Given the description of an element on the screen output the (x, y) to click on. 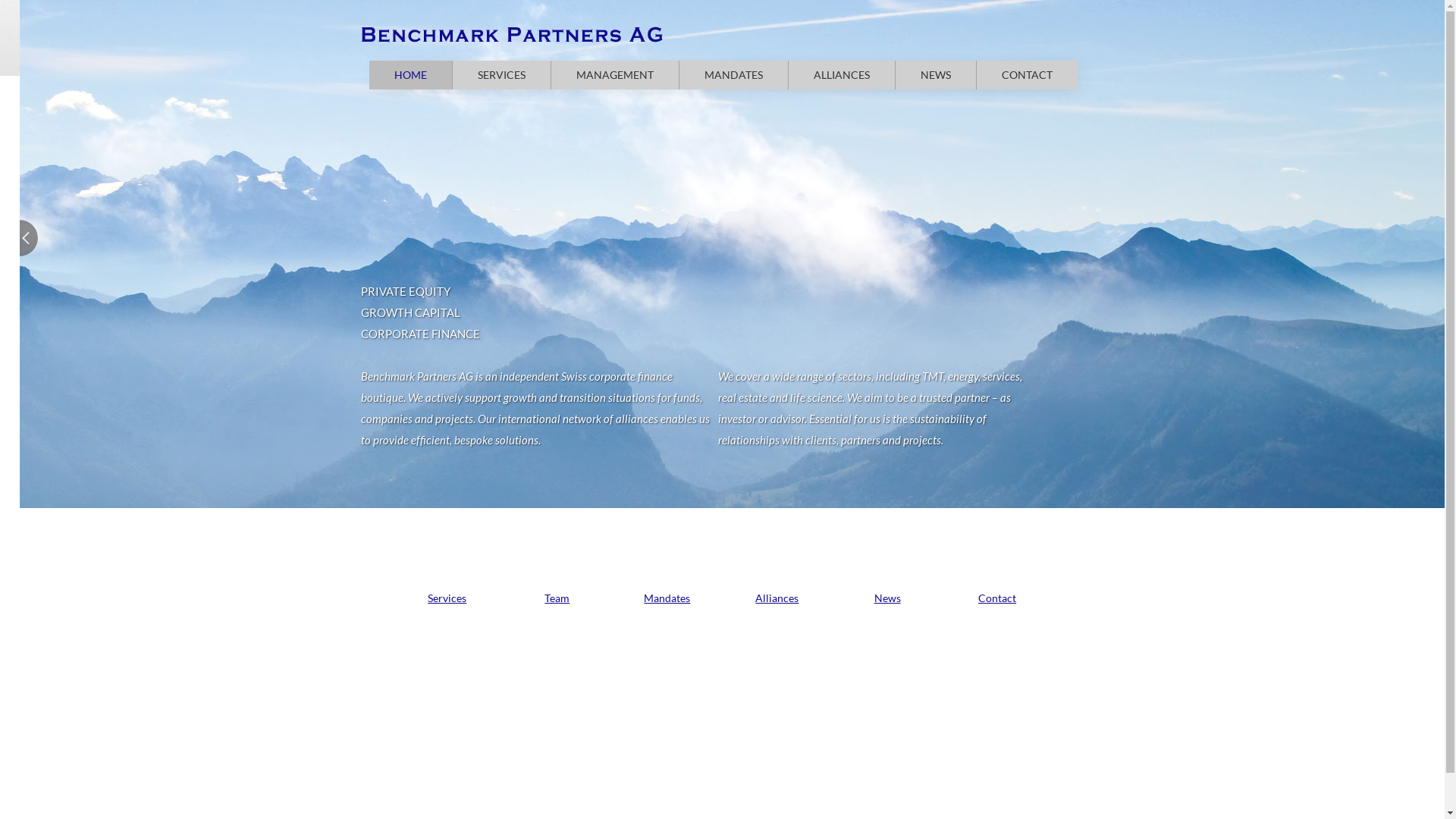
MANAGEMENT Element type: text (614, 74)
SERVICES Element type: text (501, 74)
HOME Element type: text (410, 74)
Alliances Element type: text (776, 597)
CONTACT Element type: text (1026, 74)
News Element type: text (887, 597)
ALLIANCES Element type: text (841, 74)
Services Element type: text (446, 597)
NEWS Element type: text (935, 74)
Contact Element type: text (997, 597)
Mandates Element type: text (666, 597)
MANDATES Element type: text (733, 74)
Team Element type: text (556, 597)
